Given the description of an element on the screen output the (x, y) to click on. 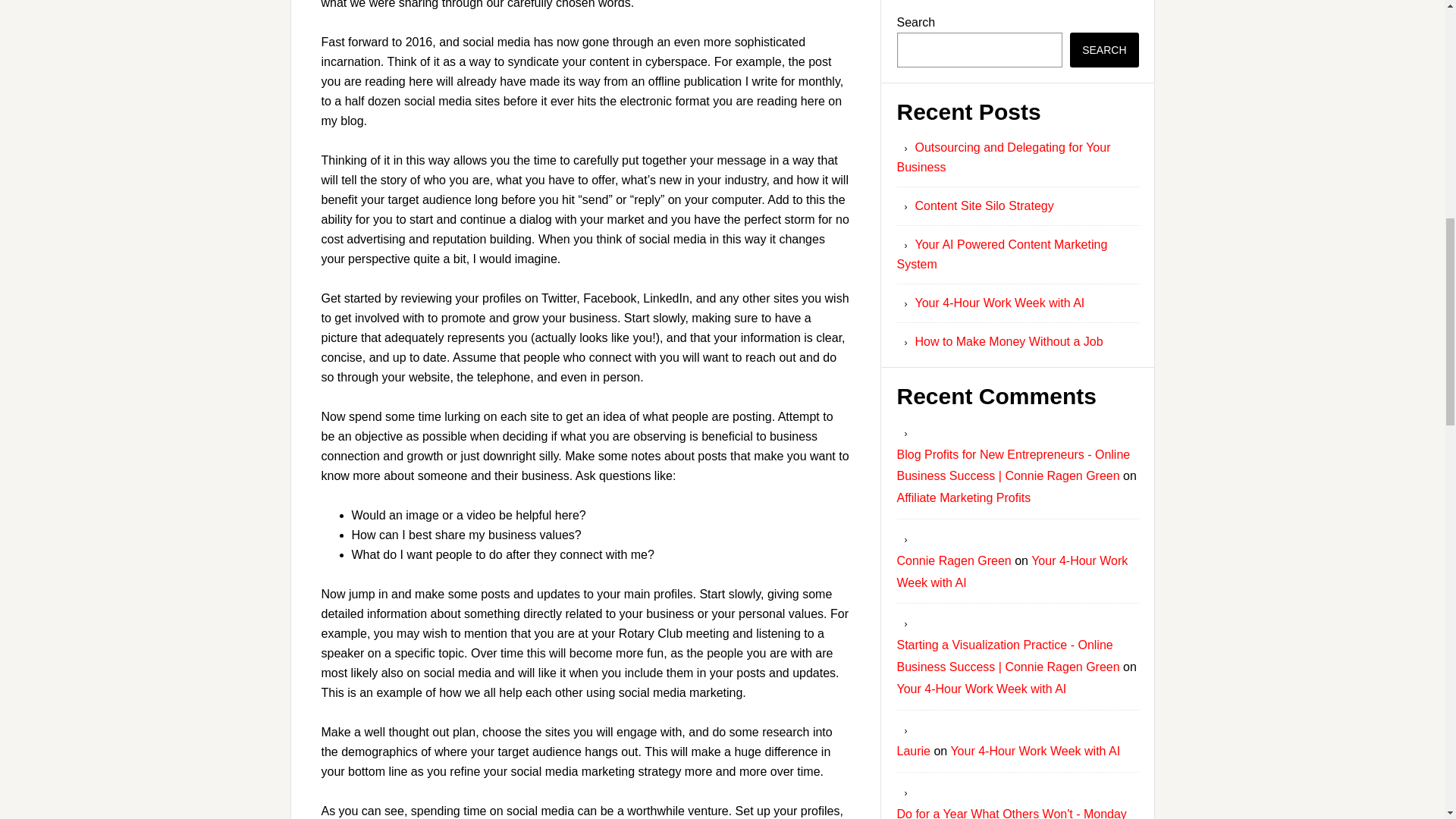
Affiliate Marketing Profits (963, 497)
Outsourcing and Delegating for Your Business (1002, 156)
Your 4-Hour Work Week with AI (1011, 571)
How to Make Money Without a Job (1008, 341)
Connie Ragen Green (953, 560)
Your 4-Hour Work Week with AI (980, 688)
Your AI Powered Content Marketing System (1001, 254)
Content Site Silo Strategy (983, 205)
Your 4-Hour Work Week with AI (1034, 750)
SEARCH (1104, 49)
